Given the description of an element on the screen output the (x, y) to click on. 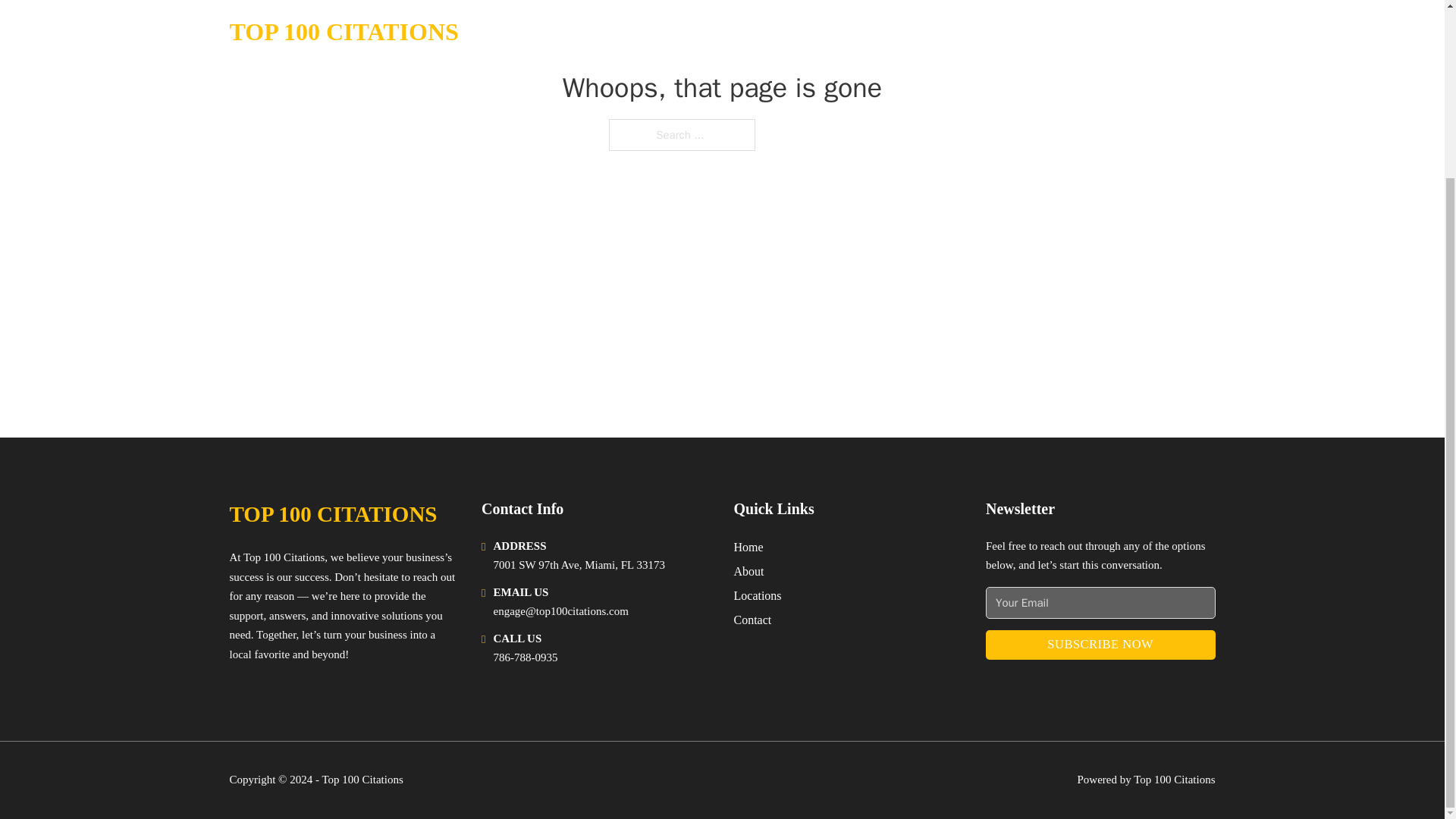
Locations (757, 595)
786-788-0935 (525, 657)
Home (747, 547)
About (748, 571)
TOP 100 CITATIONS (332, 514)
Contact (752, 619)
SUBSCRIBE NOW (1100, 644)
